Given the description of an element on the screen output the (x, y) to click on. 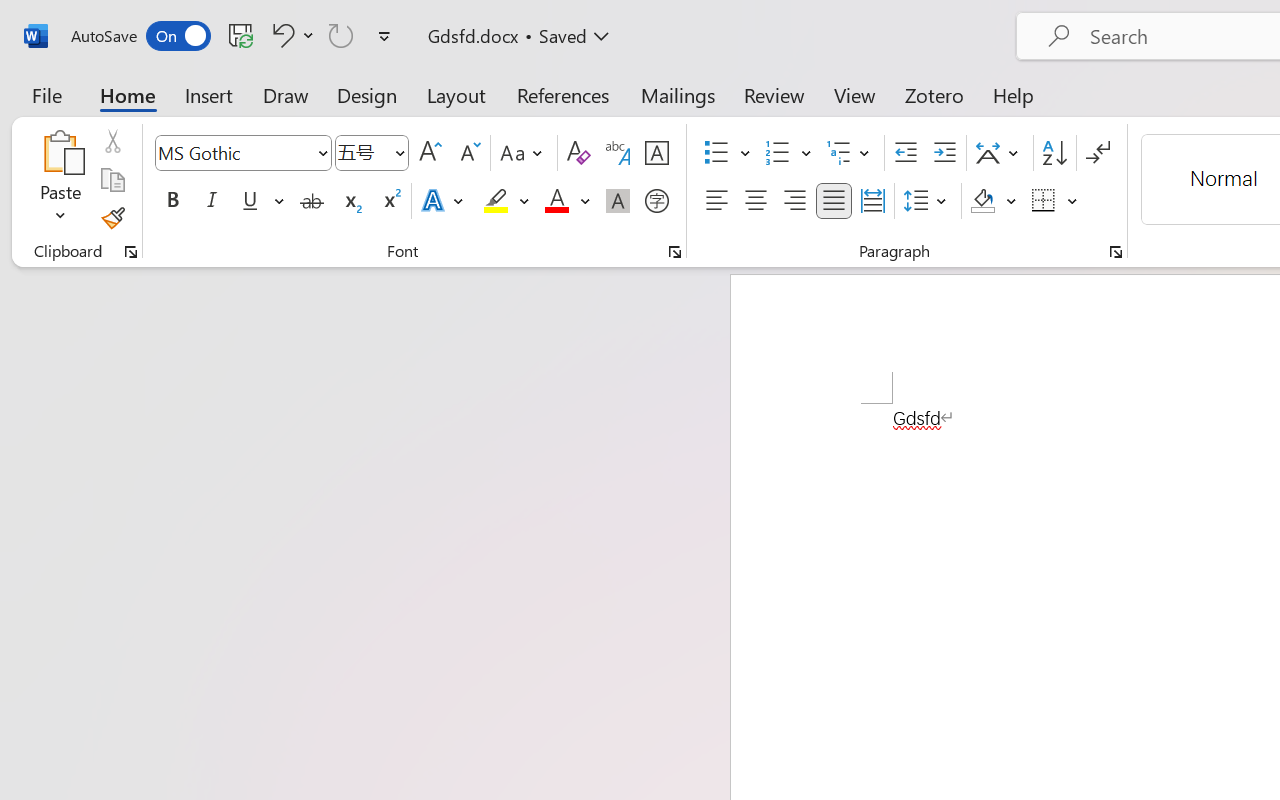
Line and Paragraph Spacing (927, 201)
Enclose Characters... (656, 201)
